Given the description of an element on the screen output the (x, y) to click on. 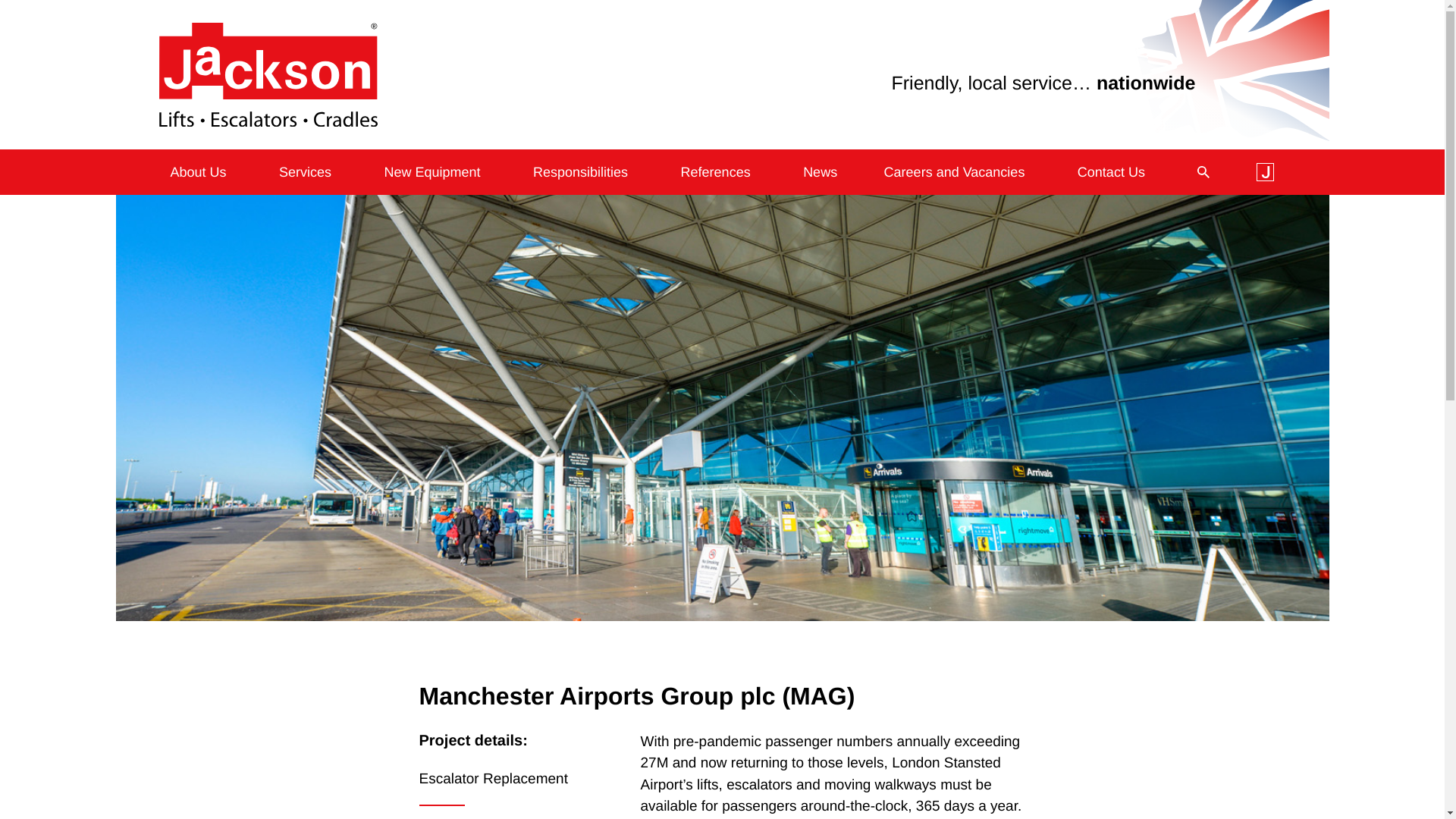
New Equipment (432, 171)
Services (304, 171)
About Us (198, 171)
Jackson Lift Group (267, 74)
